Given the description of an element on the screen output the (x, y) to click on. 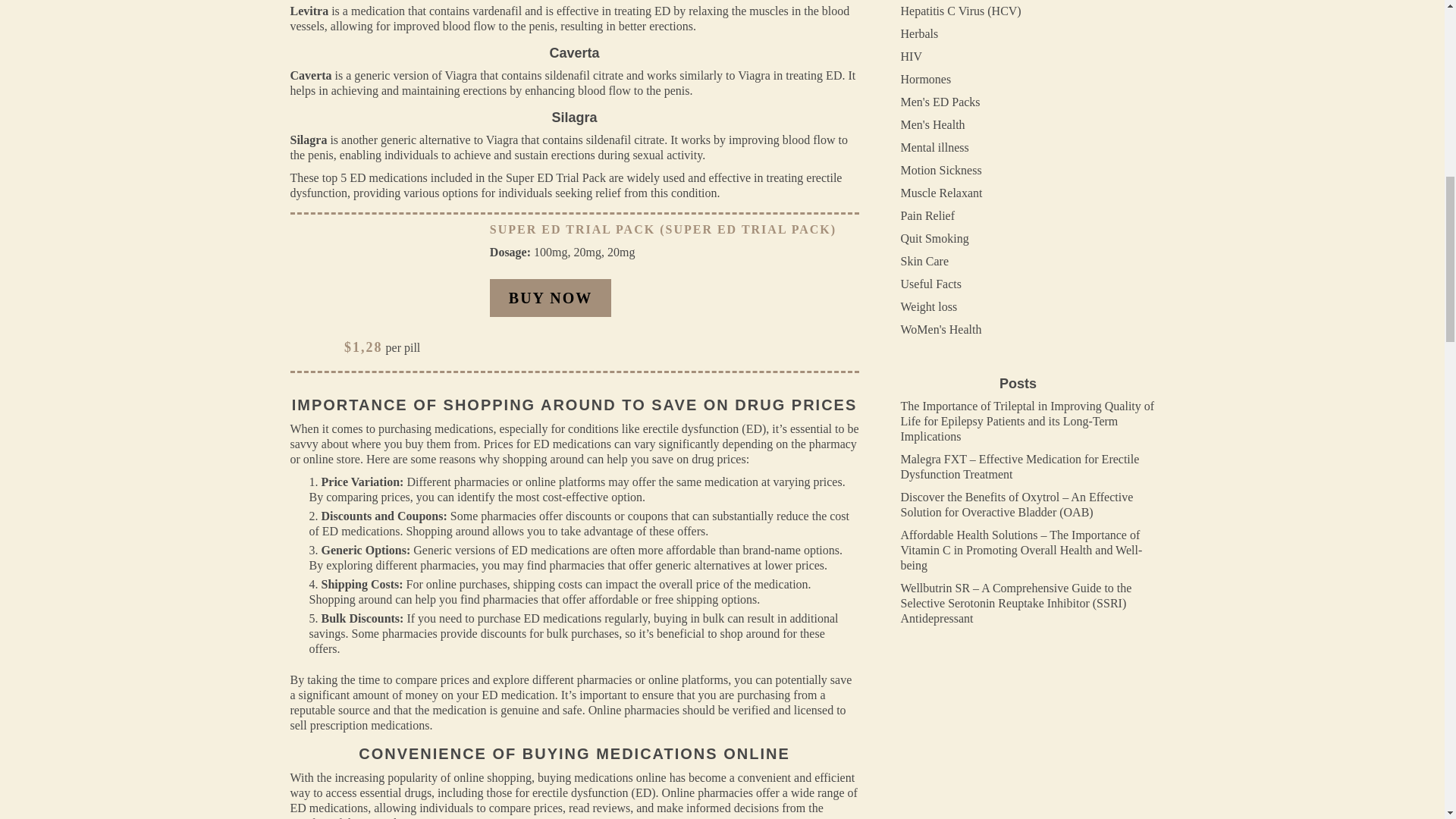
Herbals (920, 33)
HIV (911, 56)
Men's ED Packs (940, 101)
BUY NOW (550, 297)
Hormones (926, 78)
